Given the description of an element on the screen output the (x, y) to click on. 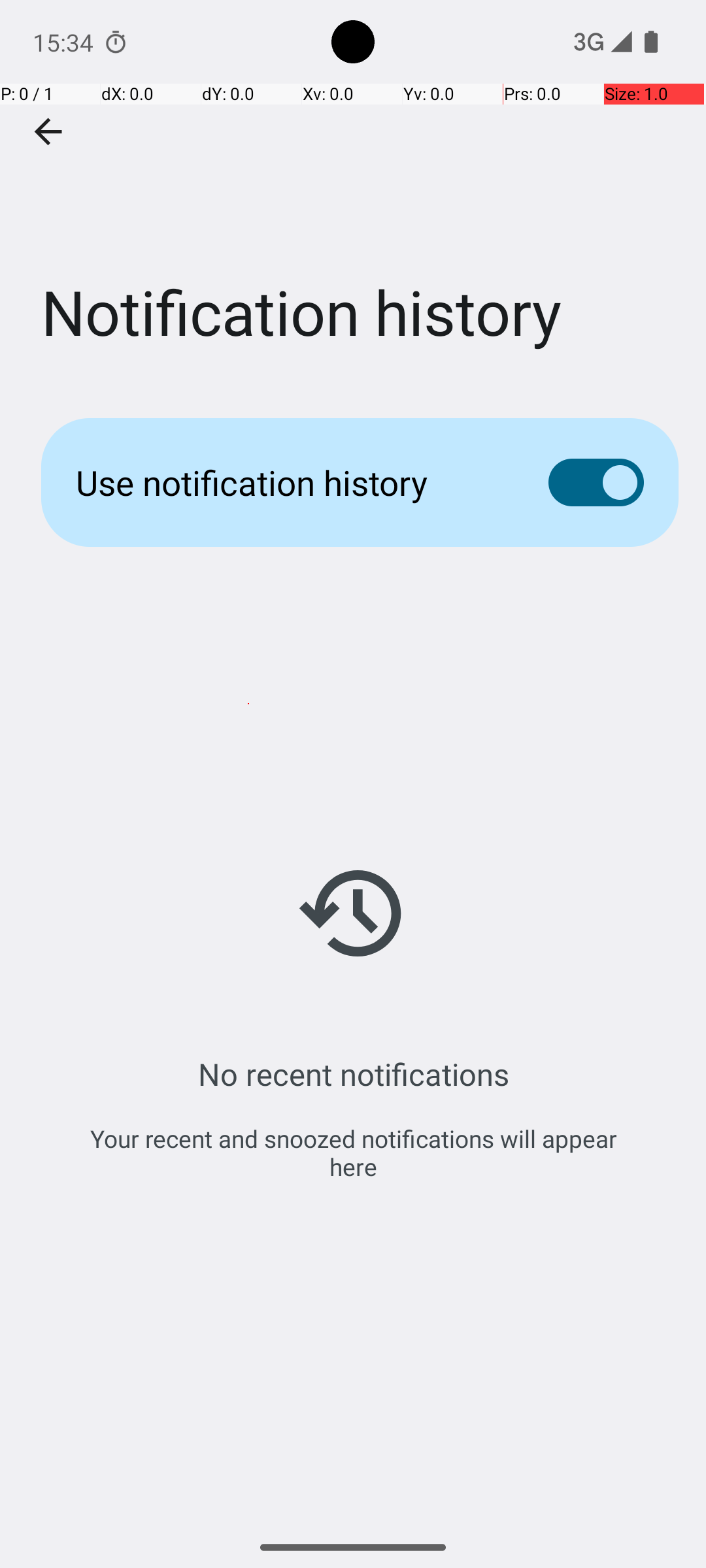
No recent notifications Element type: android.widget.TextView (352, 1073)
Your recent and snoozed notifications will appear here Element type: android.widget.TextView (352, 1152)
